Given the description of an element on the screen output the (x, y) to click on. 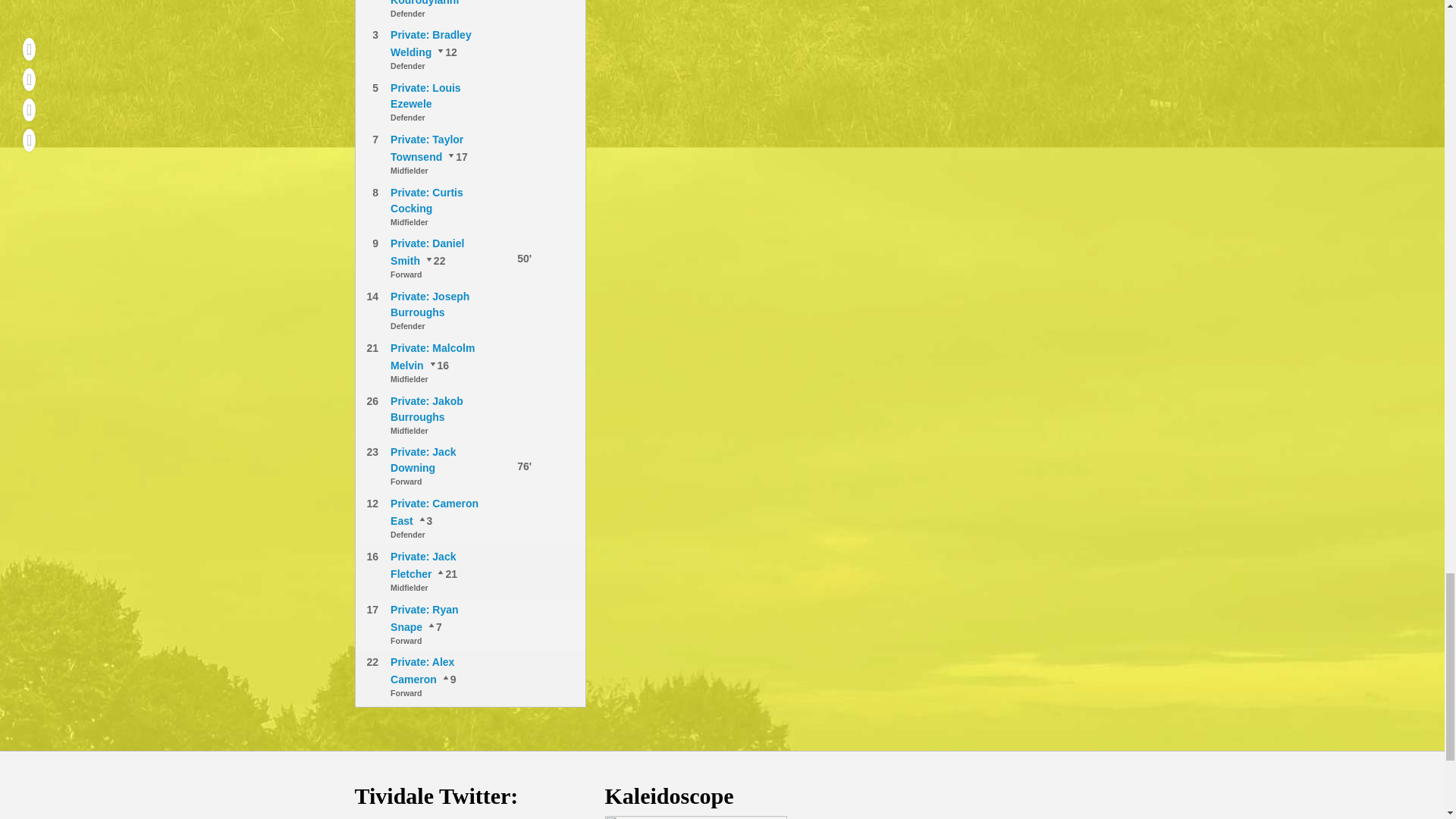
Private: Louis Ezewele (425, 95)
Private: Bradley Welding (424, 521)
Private: Taylor Townsend (426, 147)
Private: Zacharias Kourouyianni (424, 2)
Private: Daniel Smith (448, 679)
Private: Taylor Townsend (433, 625)
Private: Joseph Burroughs (429, 304)
Private: Malcolm Melvin (445, 573)
Private: Bradley Welding (430, 43)
Private: Curtis Cocking (426, 200)
Goal (506, 258)
Private: Cameron East (445, 51)
Private: Daniel Smith (427, 251)
Private: Alex Cameron (434, 260)
Private: Jack Fletcher (437, 365)
